Given the description of an element on the screen output the (x, y) to click on. 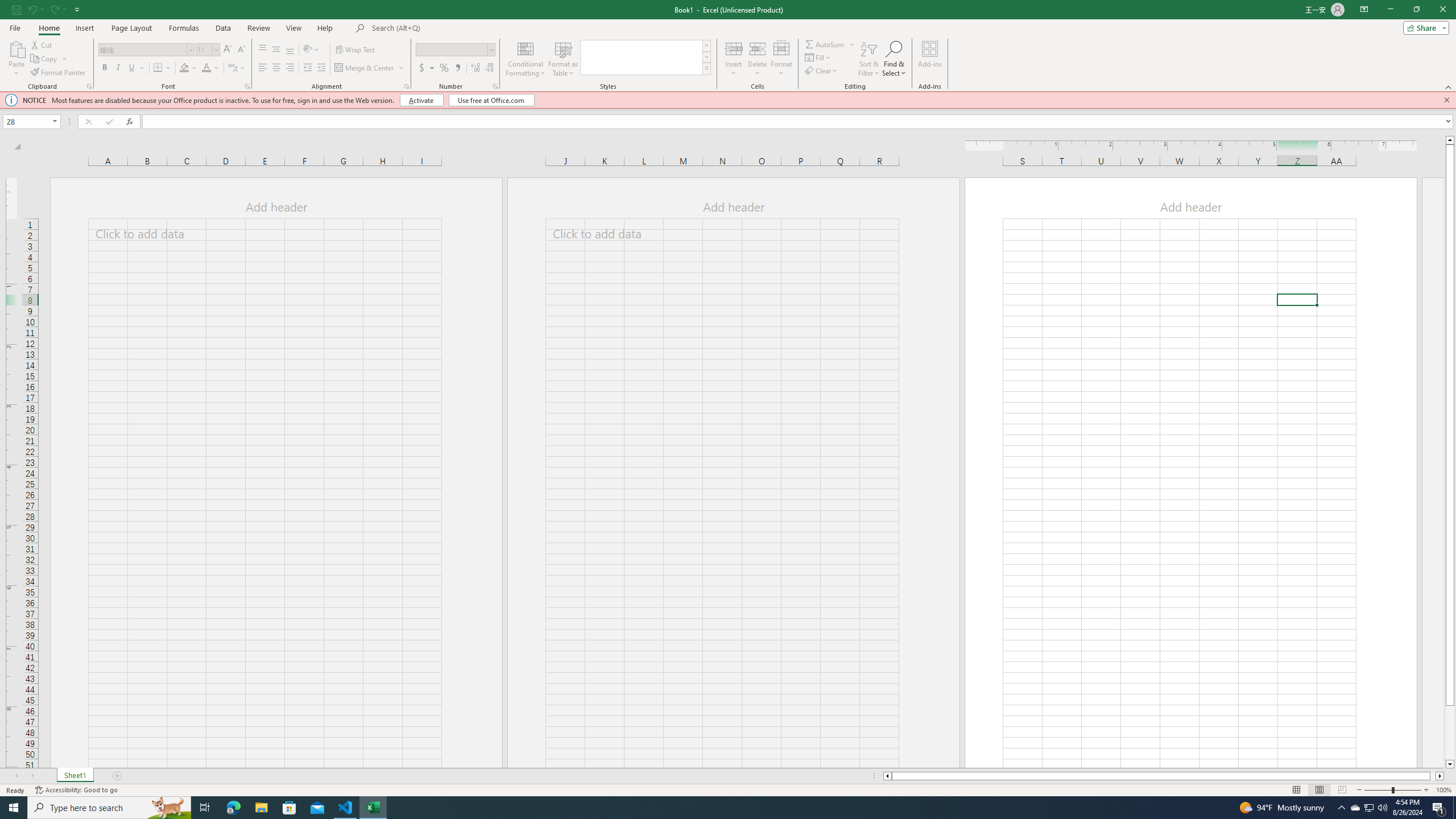
Format Cell Font (247, 85)
Borders (162, 67)
